Given the description of an element on the screen output the (x, y) to click on. 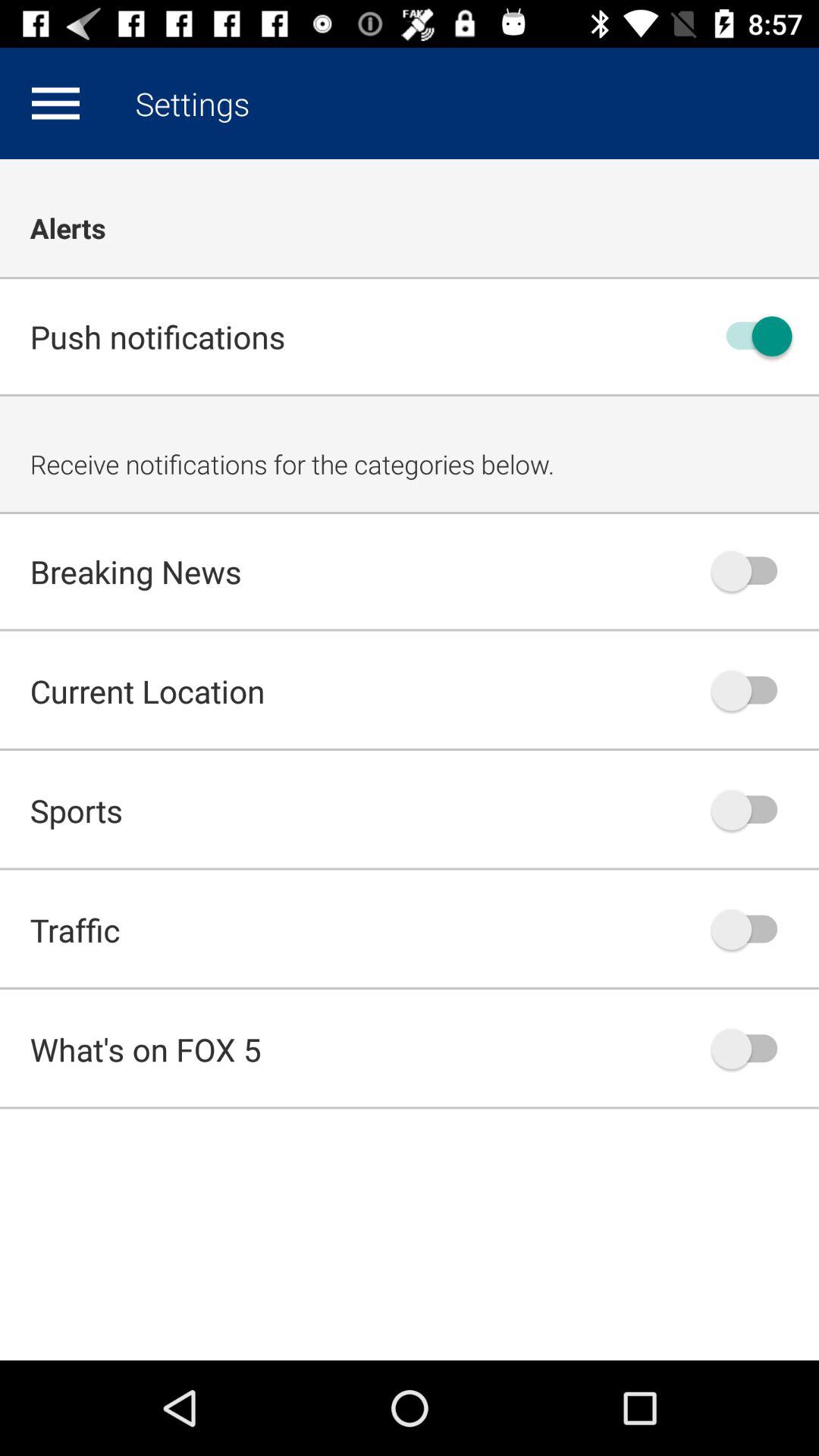
turn on/off (751, 929)
